Given the description of an element on the screen output the (x, y) to click on. 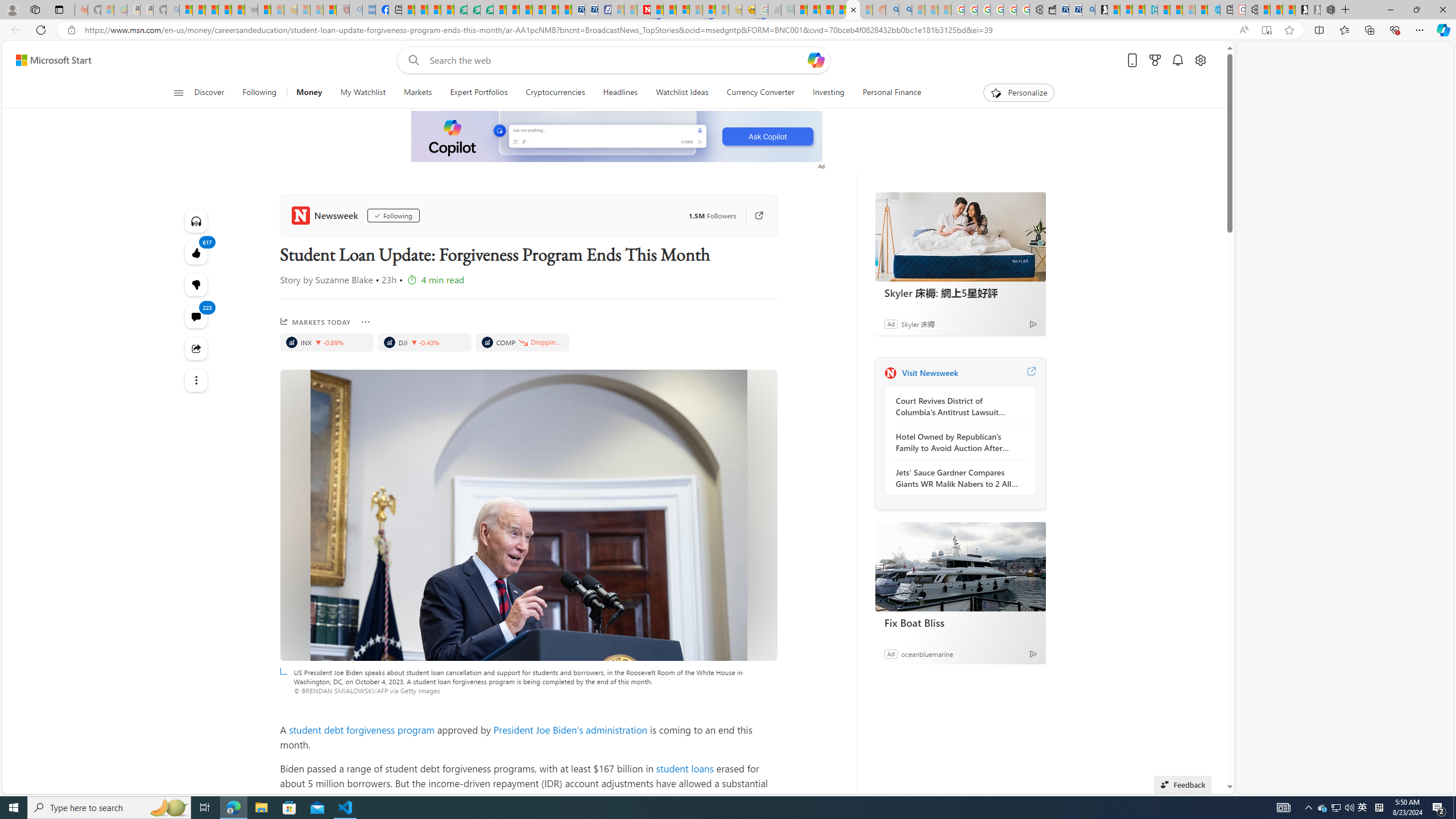
14 Common Myths Debunked By Scientific Facts (669, 9)
list of asthma inhalers uk - Search - Sleeping (355, 9)
Newsweek (889, 372)
617 (196, 284)
The Weather Channel - MSN (212, 9)
Personalize (1019, 92)
Notifications (1177, 60)
